Given the description of an element on the screen output the (x, y) to click on. 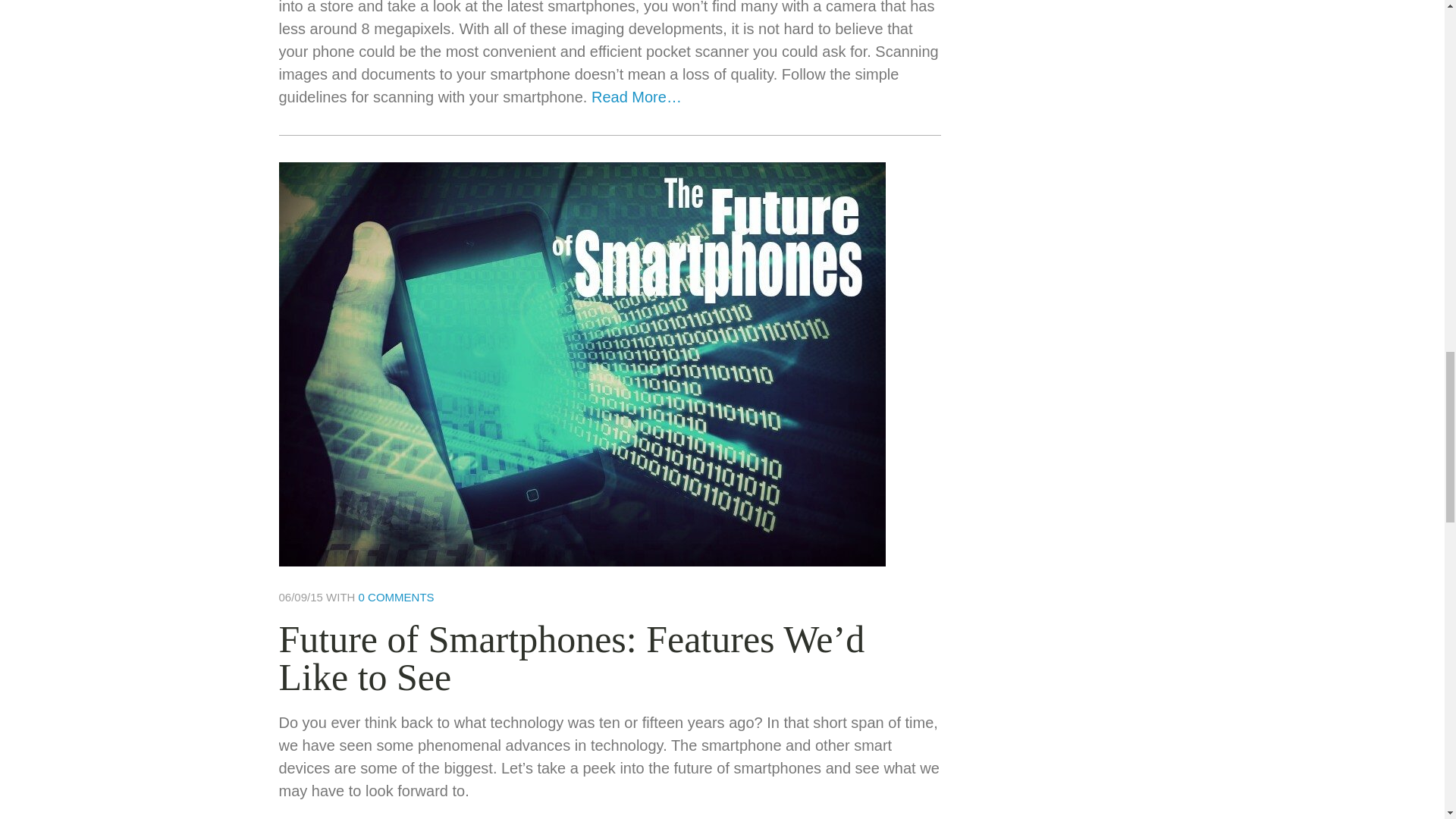
0 COMMENTS (395, 596)
